Given the description of an element on the screen output the (x, y) to click on. 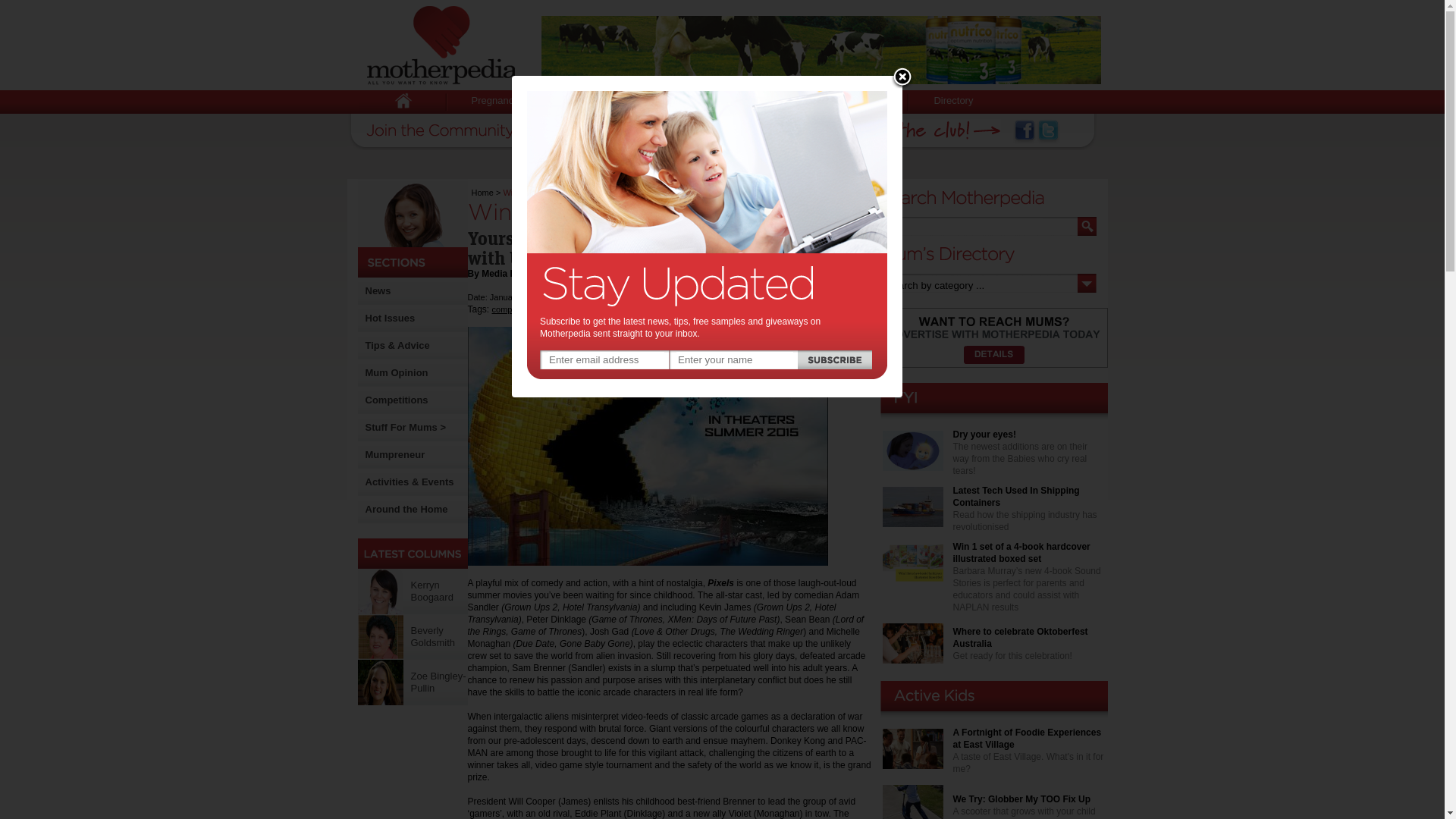
Latest Tech Used In Shipping Containers Element type: text (1015, 496)
Mum Opinion Element type: text (396, 372)
Mumpreneur Element type: text (395, 454)
Activities & Events Element type: text (409, 481)
Zoe Bingley-Pullin Element type: text (438, 681)
A Fortnight of Foodie Experiences at East Village Element type: text (1026, 738)
Home Element type: text (482, 192)
Beverly Goldsmith Element type: text (433, 636)
Stuff For Mums > Element type: text (405, 427)
Nutrico Infant Milk Element type: hover (821, 49)
Directory Element type: text (952, 101)
Kerryn Boogaard Element type: text (432, 590)
competition Element type: text (513, 308)
Stuff for Mums Element type: text (848, 101)
Dry your eyes! Element type: text (983, 434)
Tips & Advice Element type: text (397, 345)
Baby Element type: text (583, 101)
Child Element type: text (658, 101)
Win 1 set of a 4-book hardcover illustrated boxed set Element type: text (1020, 552)
All you want to know Element type: hover (440, 45)
Where to celebrate Oktoberfest Australia Element type: text (1019, 637)
News Element type: text (378, 290)
Around the Home Element type: text (406, 508)
Close Element type: text (901, 77)
We Try: Globber My TOO Fix Up Element type: text (1021, 798)
Competitions Element type: text (396, 399)
Hot Issues Element type: text (390, 317)
Pregnancy Element type: text (494, 101)
Beverly Goldsmith Element type: hover (380, 636)
Zoe Bingley-Pullin Element type: hover (380, 682)
Teenager Element type: text (743, 101)
Kerryn Boogaard Element type: hover (380, 591)
